Given the description of an element on the screen output the (x, y) to click on. 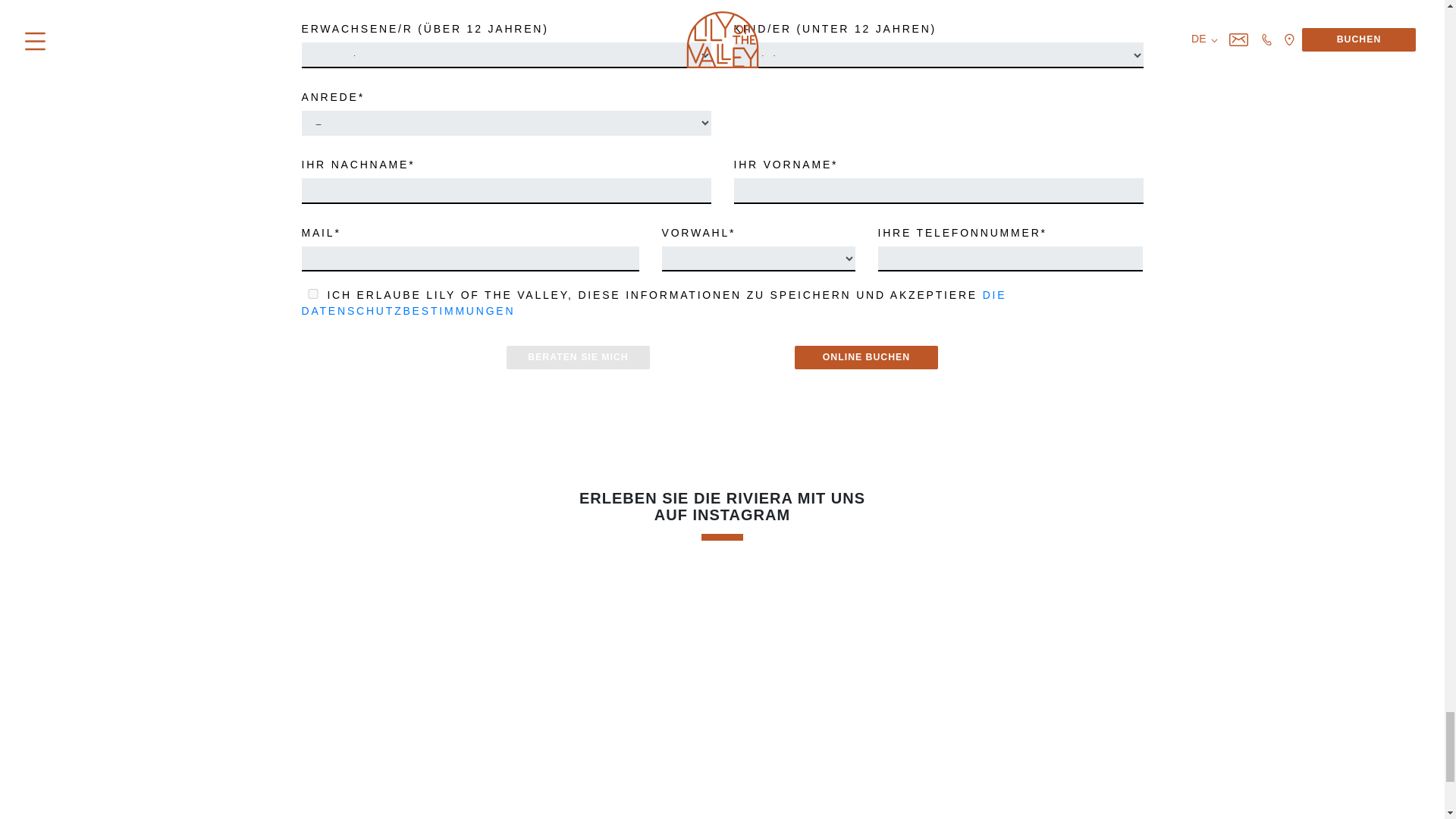
on (312, 293)
